Given the description of an element on the screen output the (x, y) to click on. 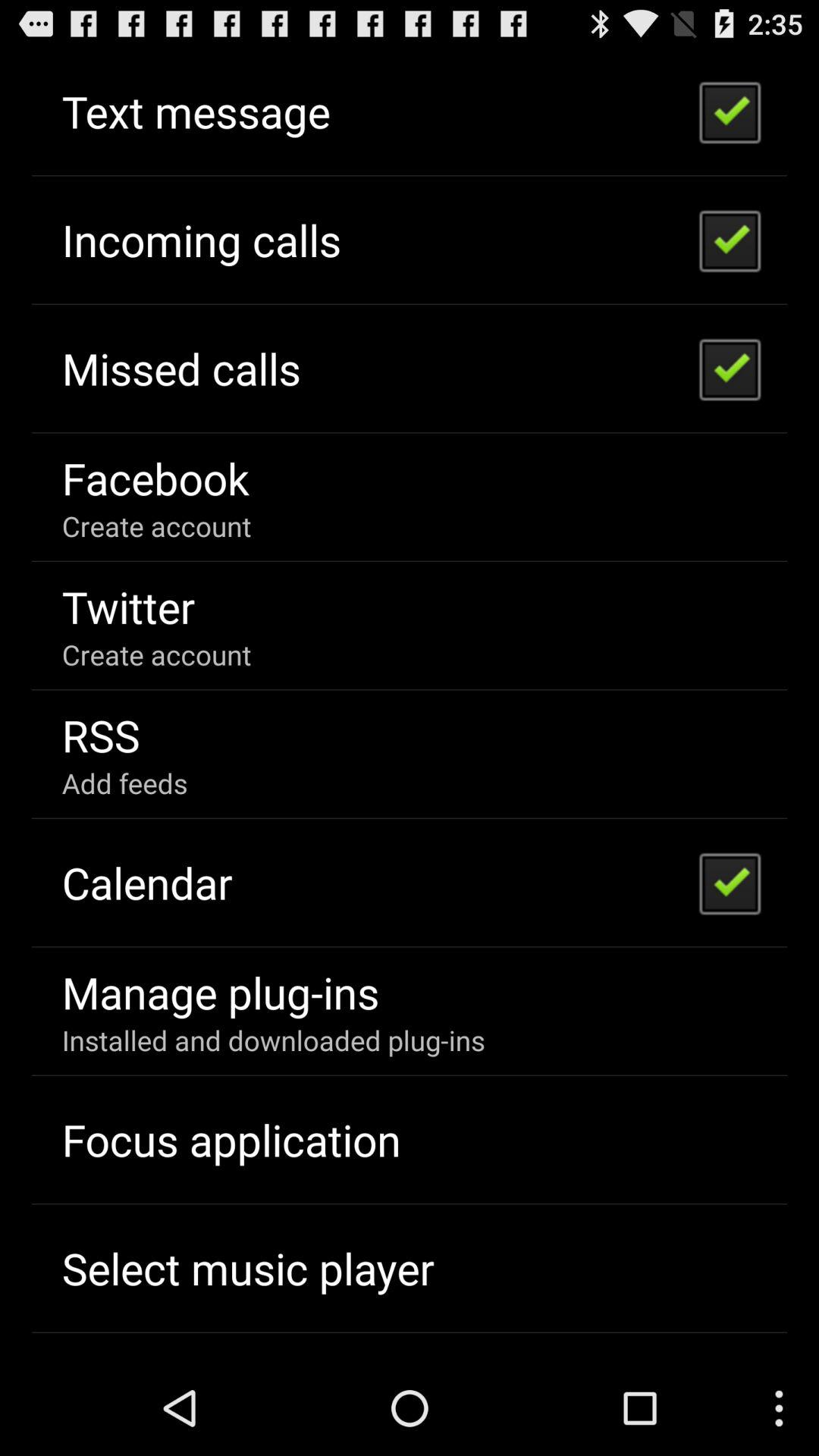
click item below create account app (128, 606)
